Given the description of an element on the screen output the (x, y) to click on. 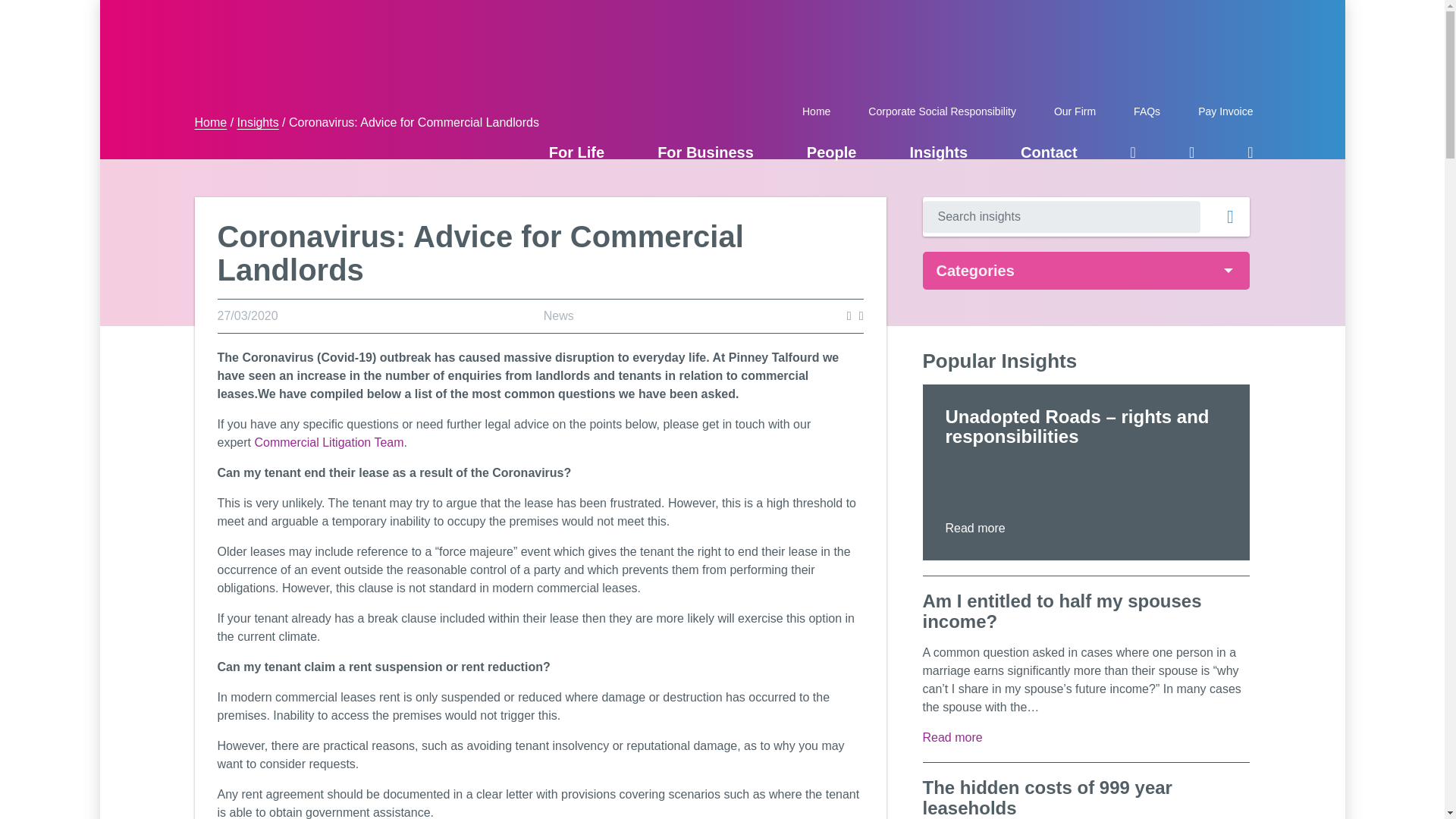
Our Firm (1074, 110)
For Life (576, 151)
Corporate Social Responsibility (942, 110)
Insights (938, 151)
Home (815, 110)
People (831, 151)
For Business (706, 151)
FAQs (1147, 110)
Pay Invoice (1219, 110)
Contact (1048, 151)
